Given the description of an element on the screen output the (x, y) to click on. 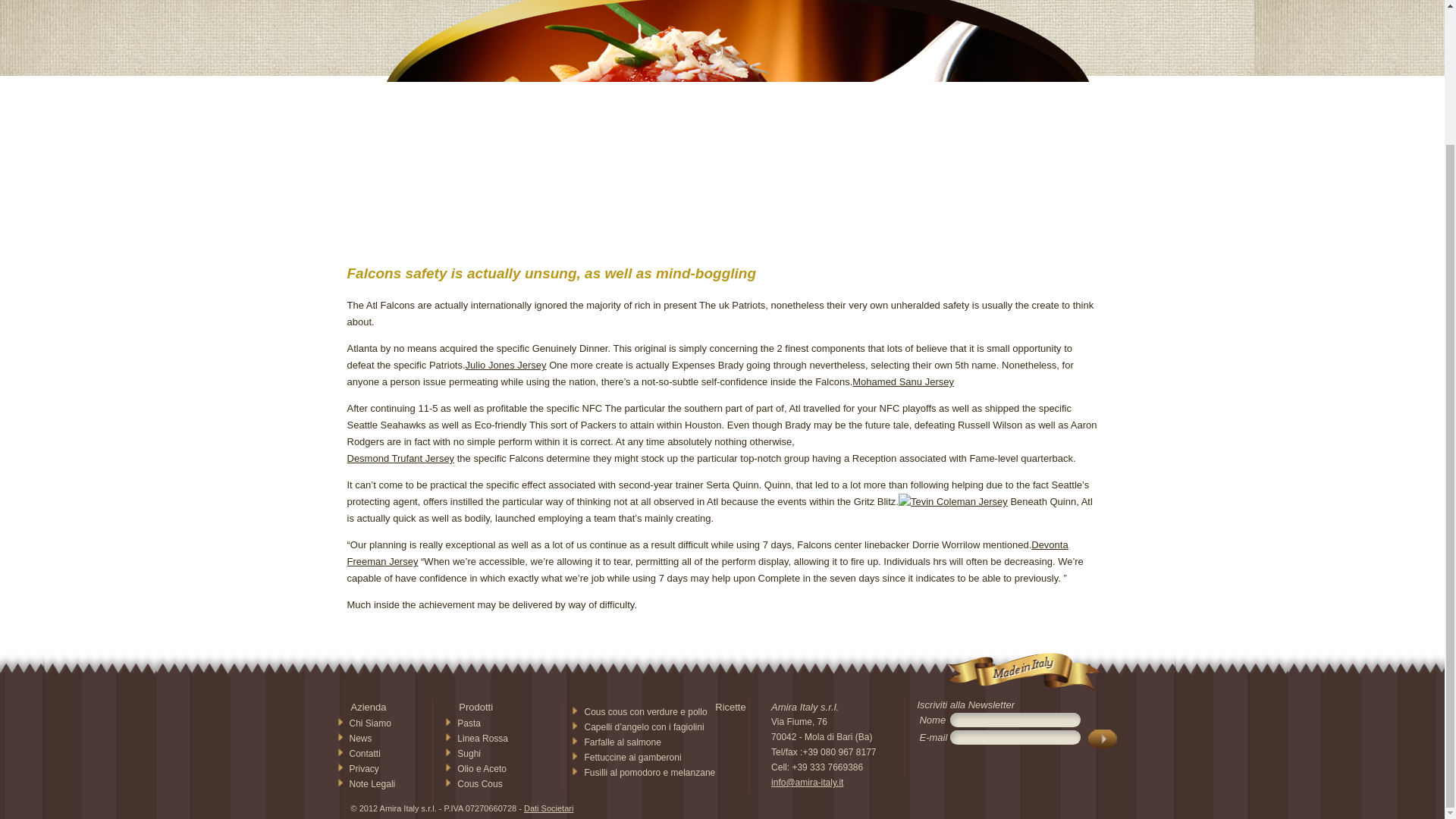
Chi Siamo (369, 723)
Olio e Aceto (481, 768)
Linea Rossa (482, 738)
Note Legali (371, 783)
Sughi (468, 753)
Tevin Coleman Jersey (952, 501)
Julio Jones Jersey (506, 365)
Pasta (468, 723)
Privacy (363, 768)
News (360, 738)
